Given the description of an element on the screen output the (x, y) to click on. 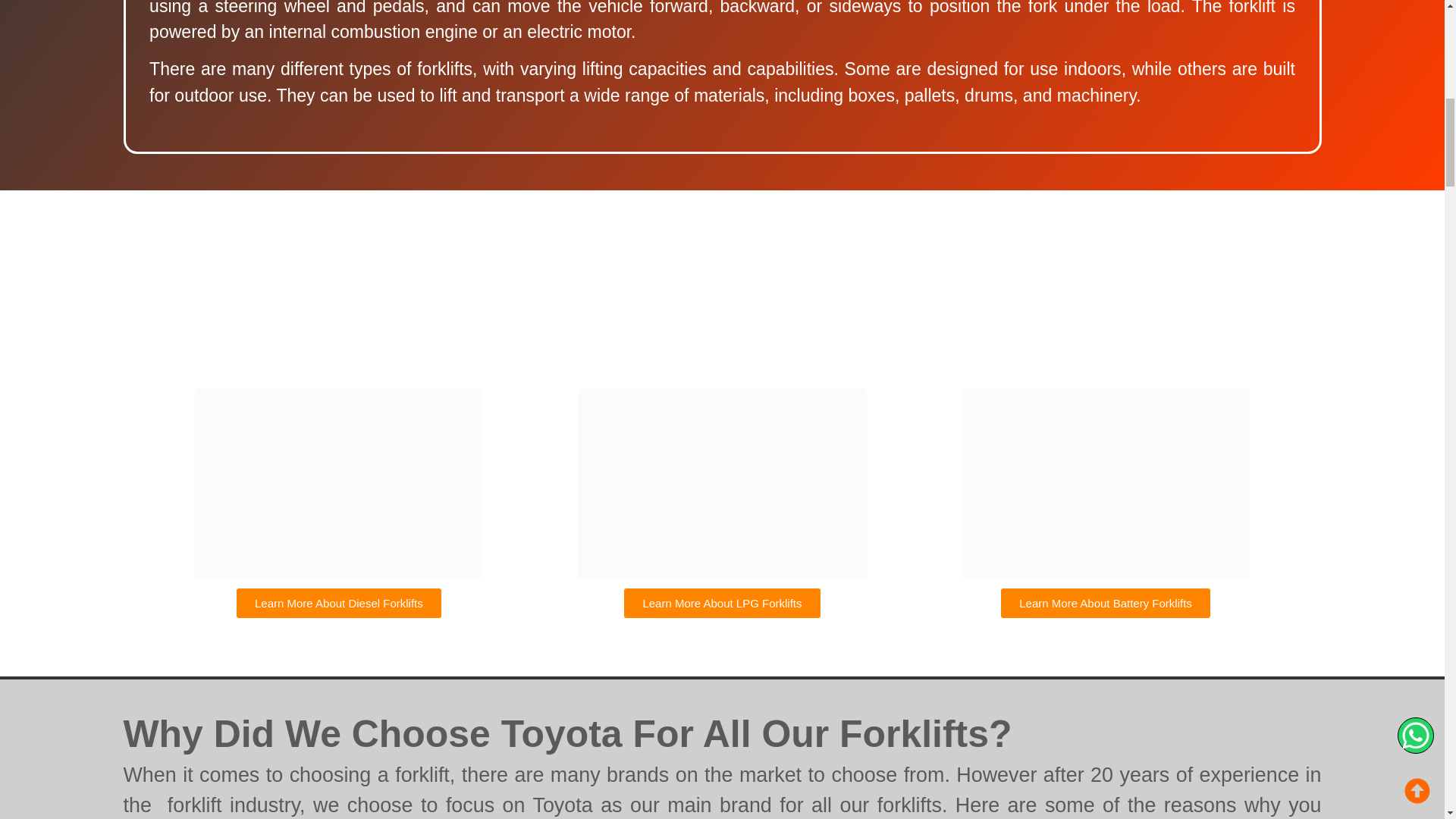
Learn More About Battery Forklifts (1105, 603)
Learn More About Diesel Forklifts (338, 603)
Learn More About LPG Forklifts (721, 603)
